Given the description of an element on the screen output the (x, y) to click on. 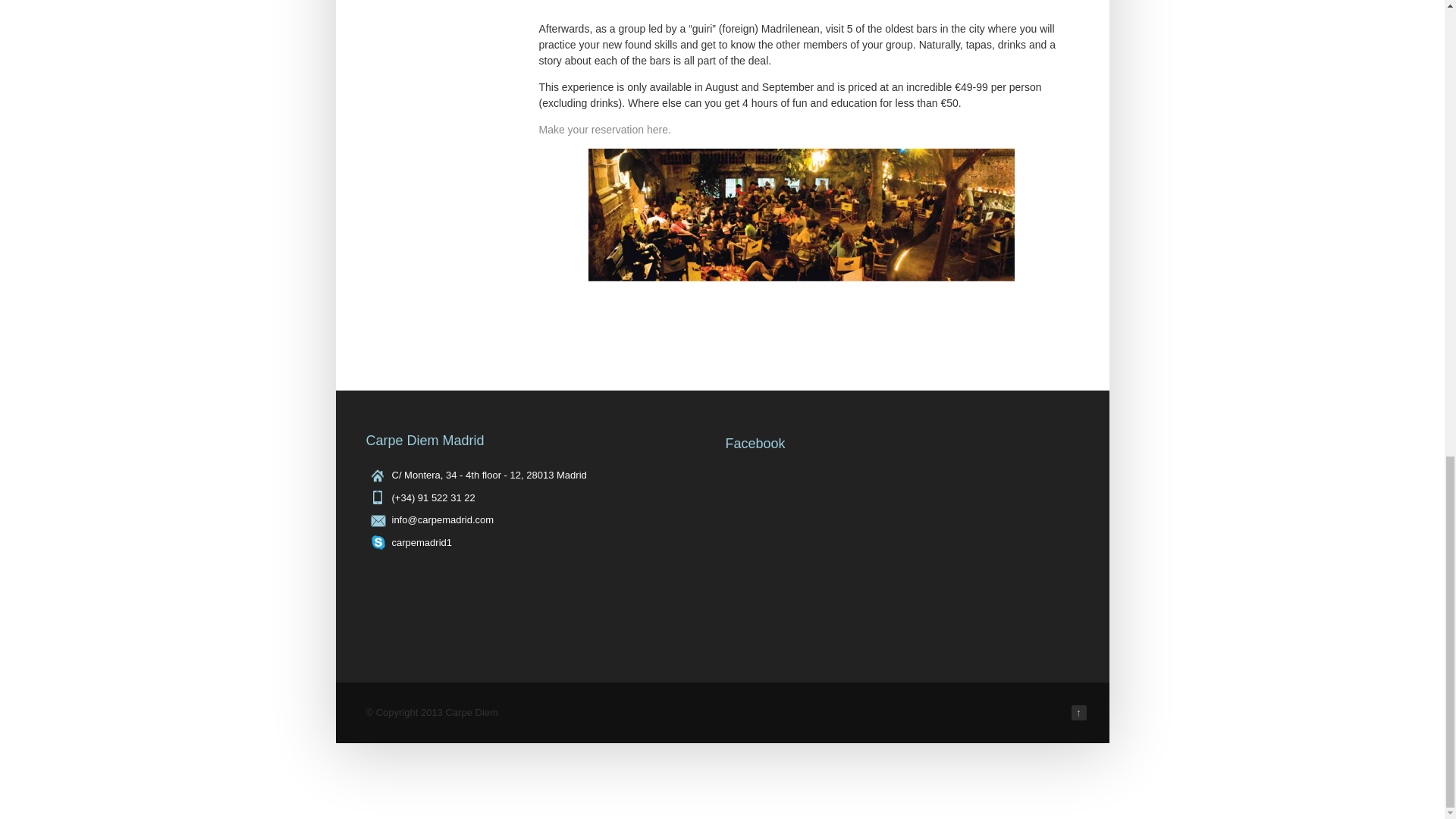
Book your Spanish and historic bar tour experience (603, 129)
Make your reservation here. (603, 129)
terraza (801, 222)
